Given the description of an element on the screen output the (x, y) to click on. 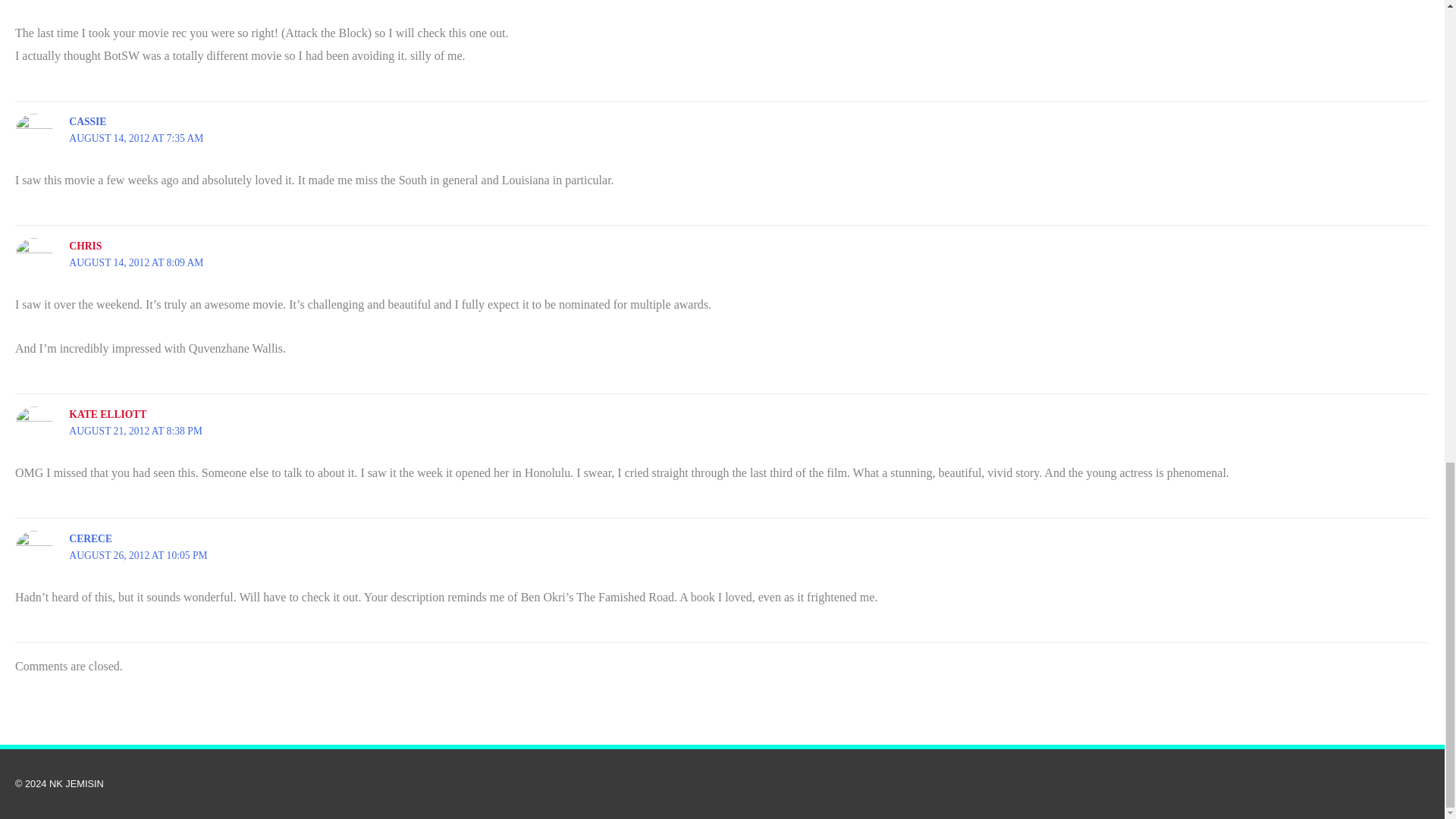
AUGUST 21, 2012 AT 8:38 PM (135, 430)
CASSIE (87, 121)
AUGUST 14, 2012 AT 7:35 AM (135, 138)
AUGUST 26, 2012 AT 10:05 PM (137, 555)
CERECE (90, 538)
AUGUST 14, 2012 AT 8:09 AM (135, 262)
